Given the description of an element on the screen output the (x, y) to click on. 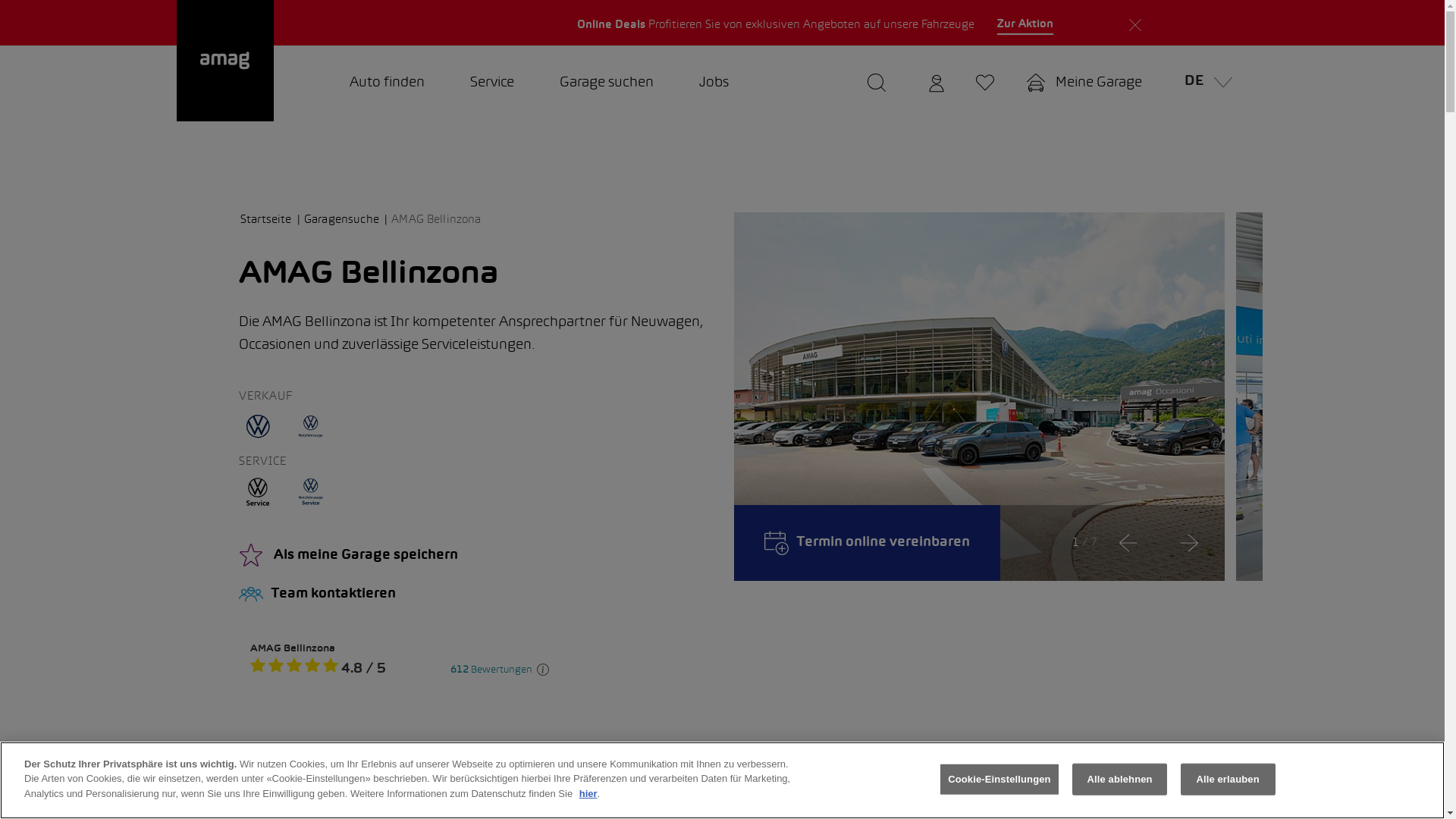
Zur Aktion Element type: text (1025, 24)
Service Element type: text (491, 83)
NR. 1 IN DER SCHWEIZ mit 85 Standorten Element type: text (1053, 22)
Team kontaktieren Element type: text (474, 594)
hier Element type: text (588, 793)
Termin online vereinbaren Element type: text (867, 542)
Garagensuche Element type: text (345, 219)
Garage suchen Element type: text (606, 83)
Alle erlauben Element type: text (1227, 779)
Meine Garage Element type: text (1083, 83)
Auto finden Element type: text (386, 83)
Startseite Element type: text (270, 219)
Cookie-Einstellungen Element type: text (999, 779)
Alle ablehnen Element type: text (1119, 779)
DE Element type: text (1203, 83)
SCHNELL UND ONLINE Wir kaufen Ihr Auto Element type: text (398, 22)
Jobs Element type: text (713, 83)
